Given the description of an element on the screen output the (x, y) to click on. 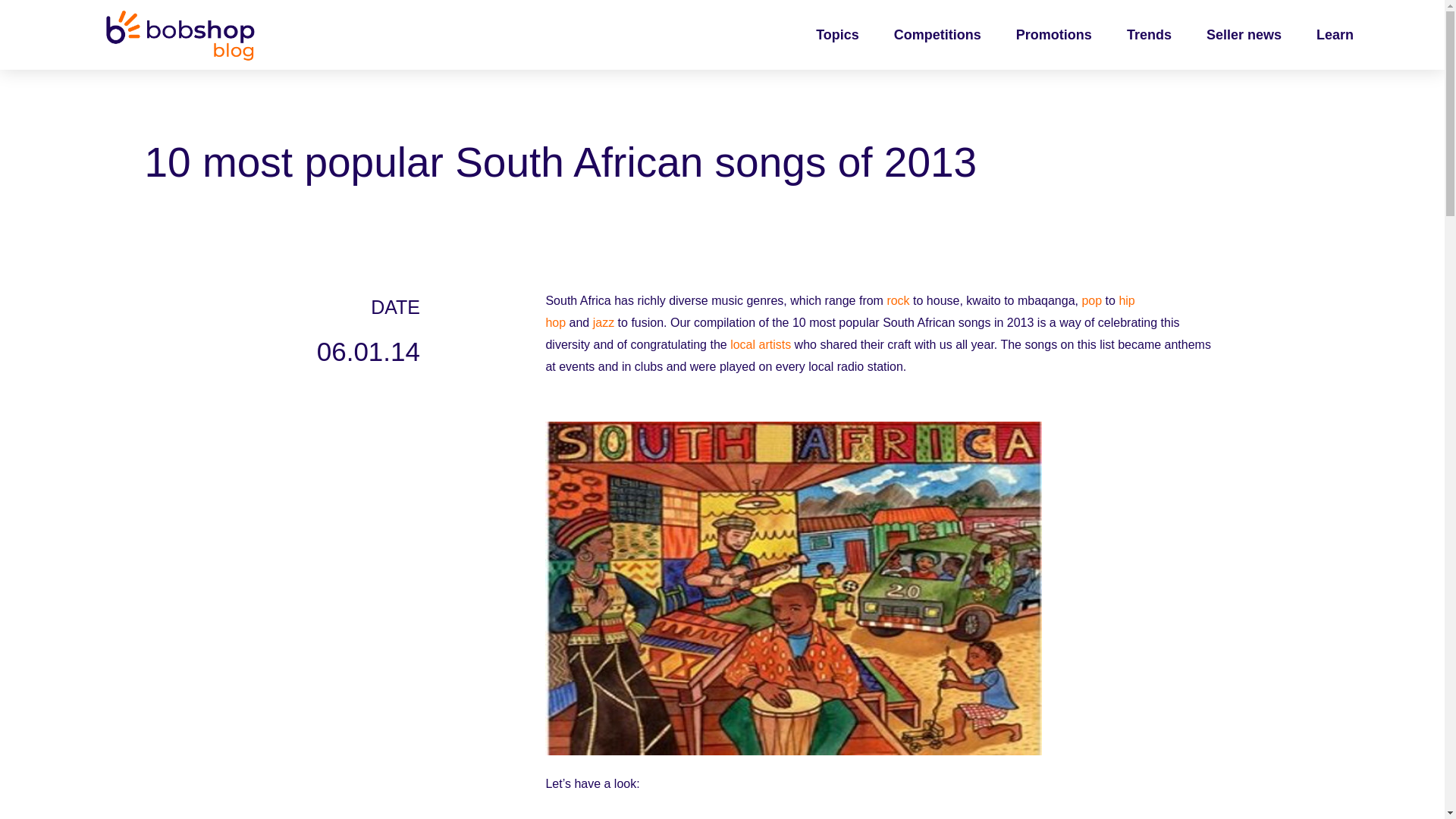
Promotions (1053, 34)
pop (1091, 300)
rock (897, 300)
hip hop (839, 311)
Competitions (937, 34)
local artists (760, 344)
Seller news (1244, 34)
Learn (1334, 34)
Trends (1149, 34)
jazz (603, 322)
